Given the description of an element on the screen output the (x, y) to click on. 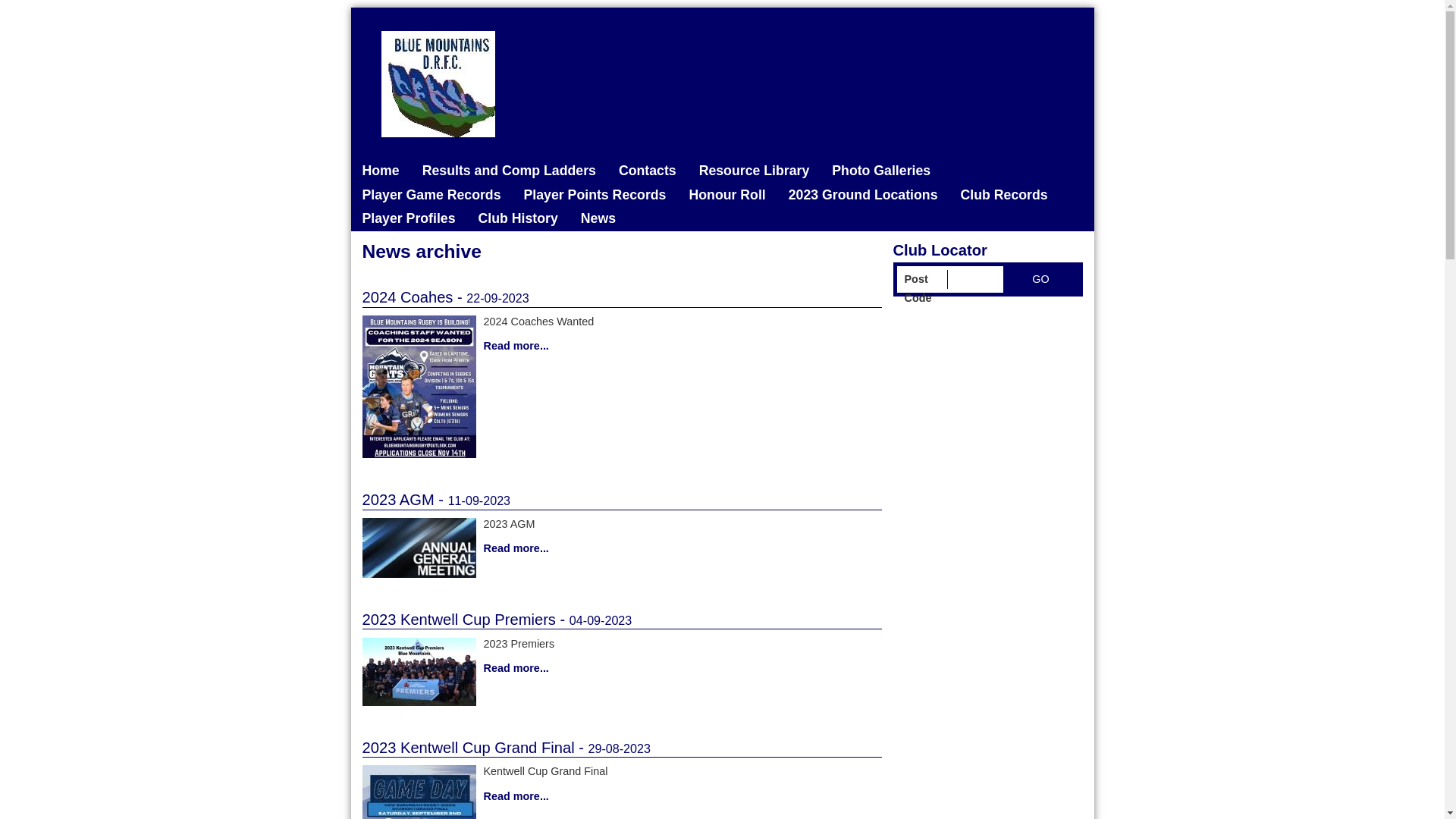
Contacts Element type: text (647, 171)
Read more... Element type: text (621, 548)
Player Points Records Element type: text (594, 195)
Read more... Element type: text (621, 346)
Honour Roll Element type: text (726, 195)
Results and Comp Ladders Element type: text (509, 171)
2023 Kentwell Cup Premiers - 04-09-2023 Element type: text (621, 620)
Player Profiles Element type: text (408, 219)
Read more... Element type: text (621, 796)
2023 Ground Locations Element type: text (863, 195)
2023 AGM - 11-09-2023 Element type: text (621, 501)
2024 Coahes - 22-09-2023 Element type: text (621, 298)
News Element type: text (598, 219)
Go Element type: text (1040, 279)
Resource Library Element type: text (754, 171)
Photo Galleries Element type: text (880, 171)
Player Game Records Element type: text (430, 195)
Home Element type: text (380, 171)
2023 Kentwell Cup Grand Final - 29-08-2023 Element type: text (621, 749)
Club Records Element type: text (1004, 195)
Read more... Element type: text (621, 668)
Club History Element type: text (518, 219)
